Given the description of an element on the screen output the (x, y) to click on. 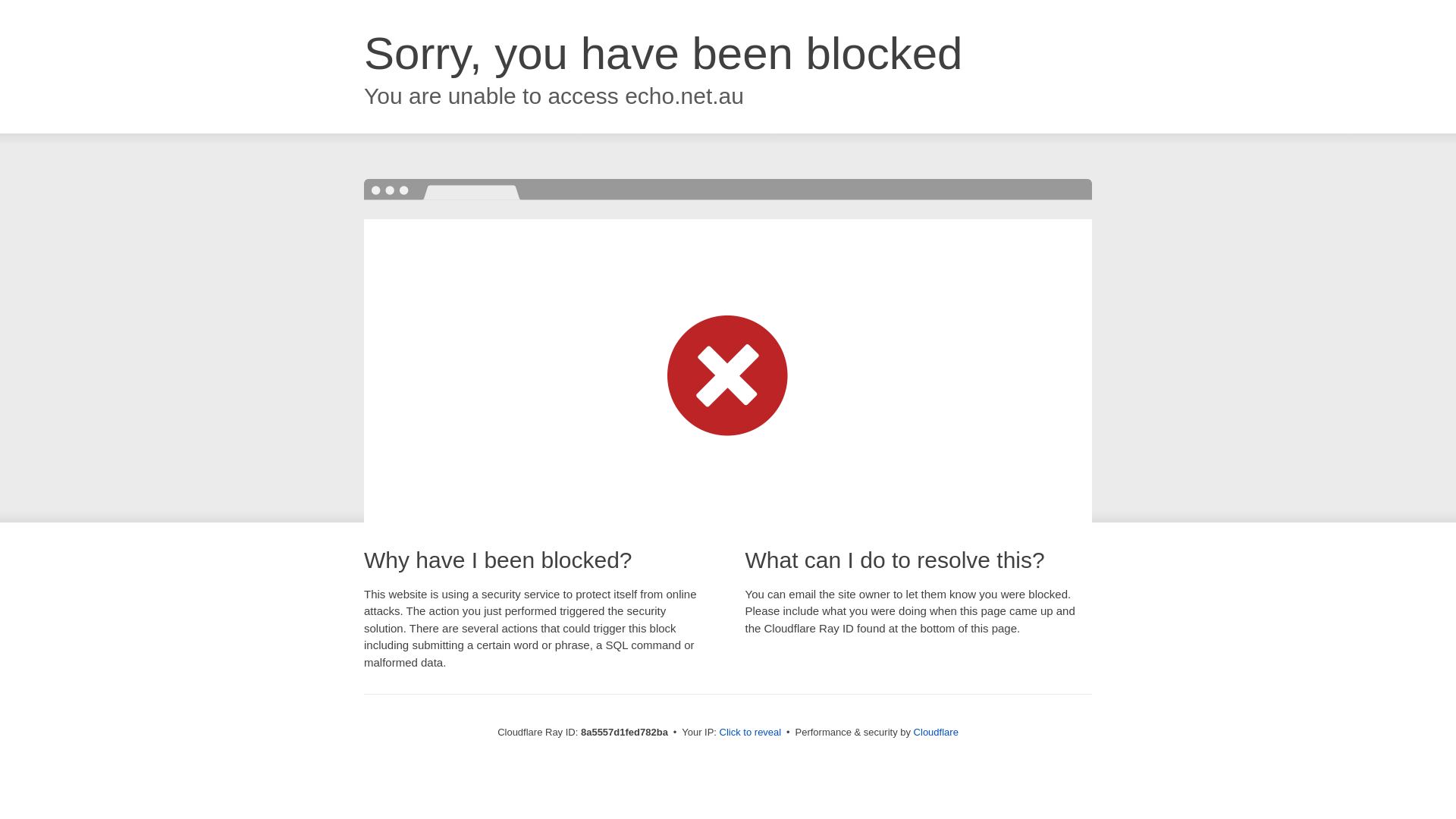
Cloudflare (936, 731)
Click to reveal (750, 732)
